Given the description of an element on the screen output the (x, y) to click on. 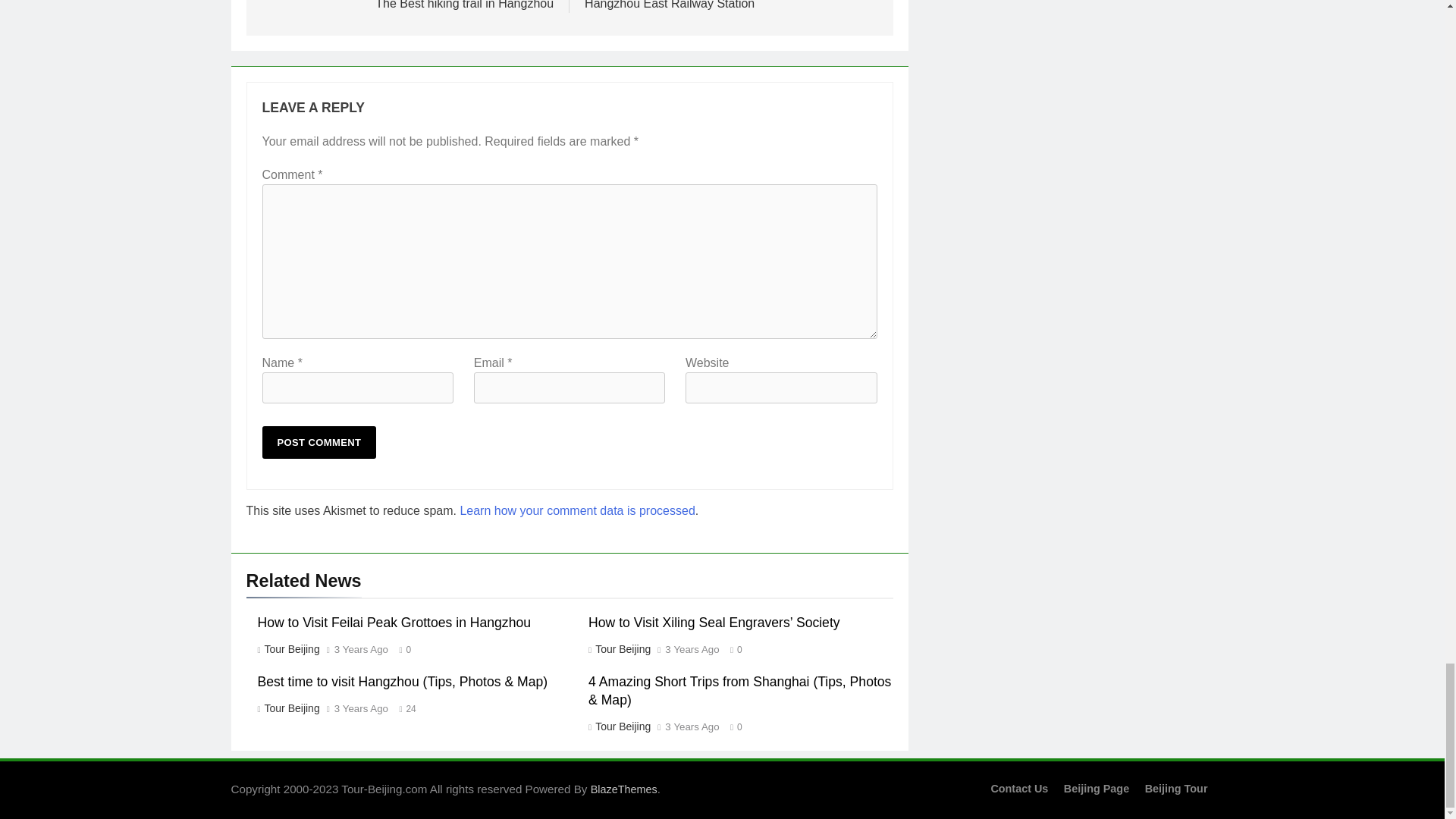
Post Comment (319, 441)
